Given the description of an element on the screen output the (x, y) to click on. 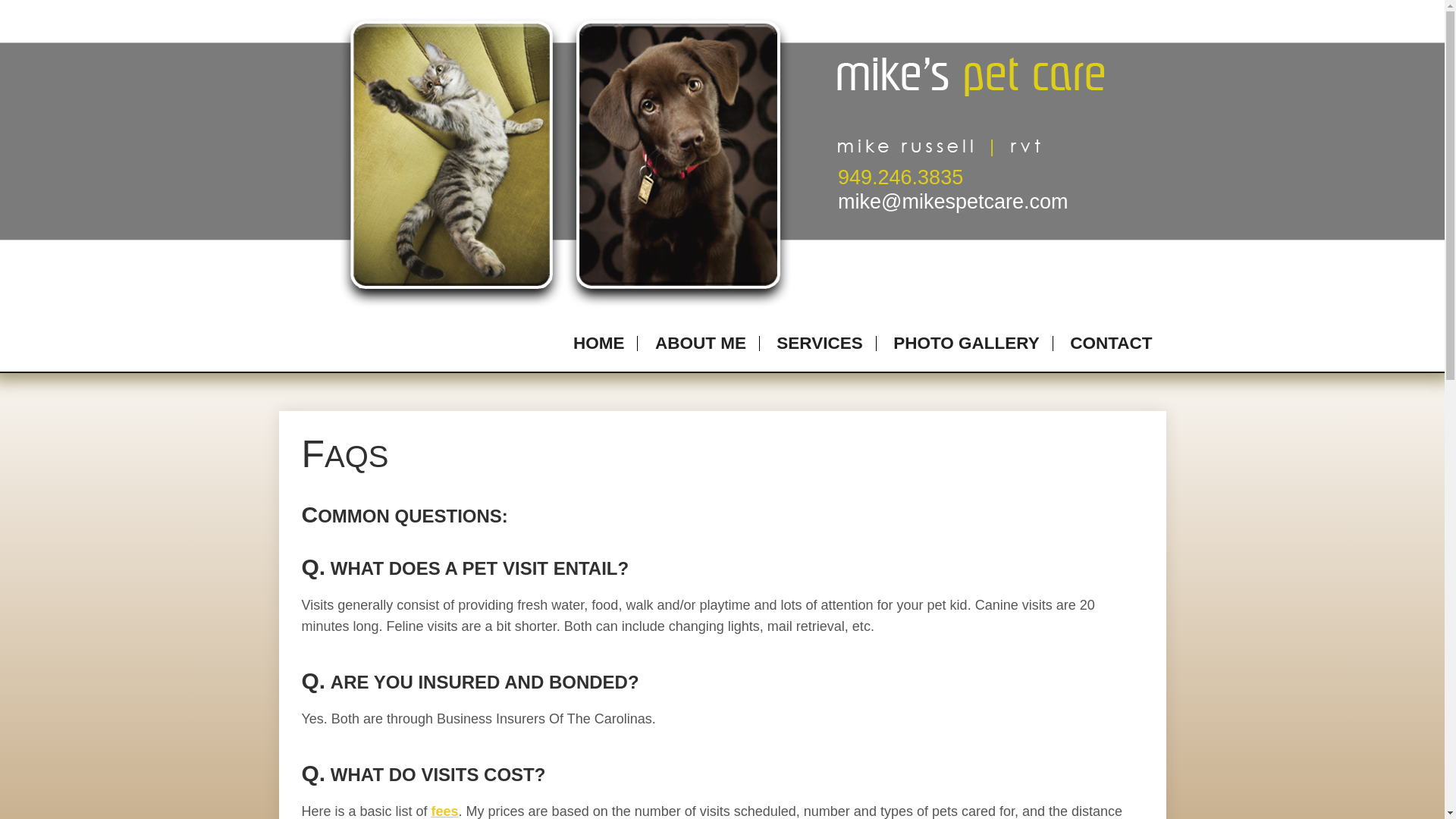
ABOUT ME (700, 343)
SERVICES (818, 343)
PHOTO GALLERY (966, 343)
HOME (598, 343)
fees (444, 811)
CONTACT (1110, 343)
949.246.3835 (900, 177)
